Given the description of an element on the screen output the (x, y) to click on. 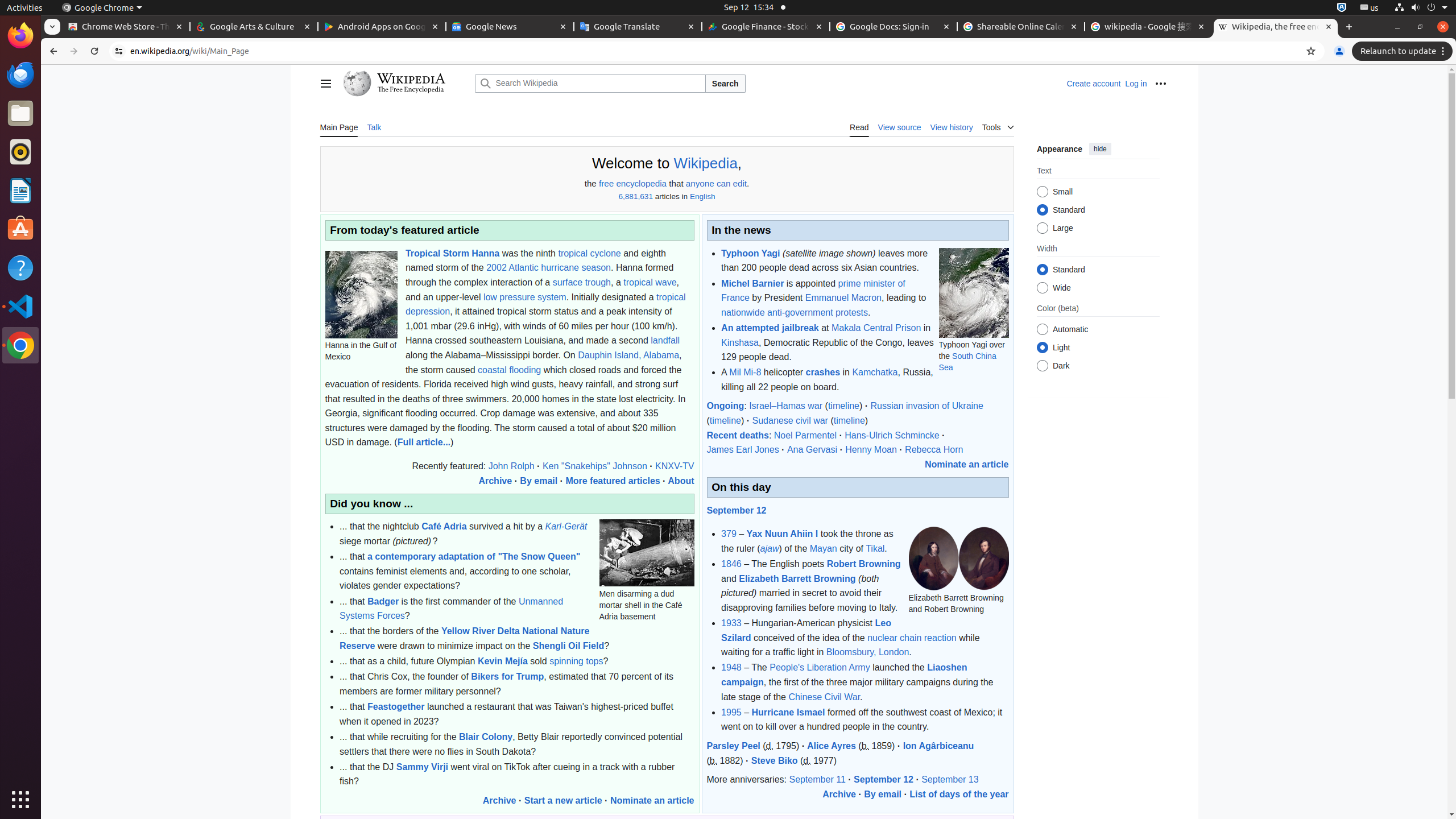
Reload Element type: push-button (94, 50)
System Element type: menu (1420, 7)
Elizabeth Barrett Browning and Robert Browning Element type: link (958, 558)
People's Liberation Army Element type: link (819, 667)
ajaw Element type: link (769, 548)
